Given the description of an element on the screen output the (x, y) to click on. 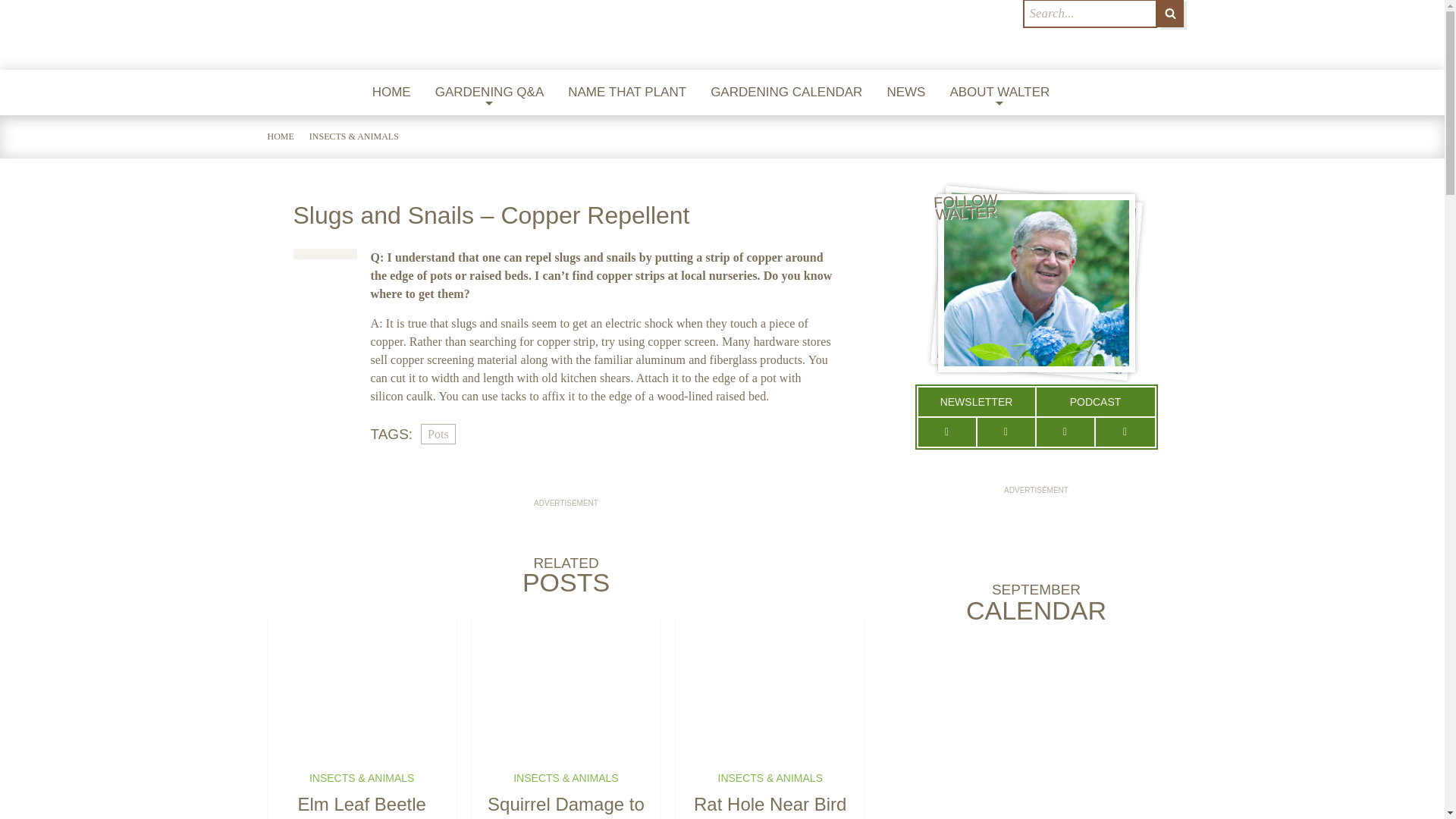
ABOUT WALTER (999, 92)
NEWS (906, 92)
HOME (391, 92)
GARDENING CALENDAR (786, 92)
NAME THAT PLANT (627, 92)
Search for: (1089, 13)
SEARCH (1170, 13)
